Given the description of an element on the screen output the (x, y) to click on. 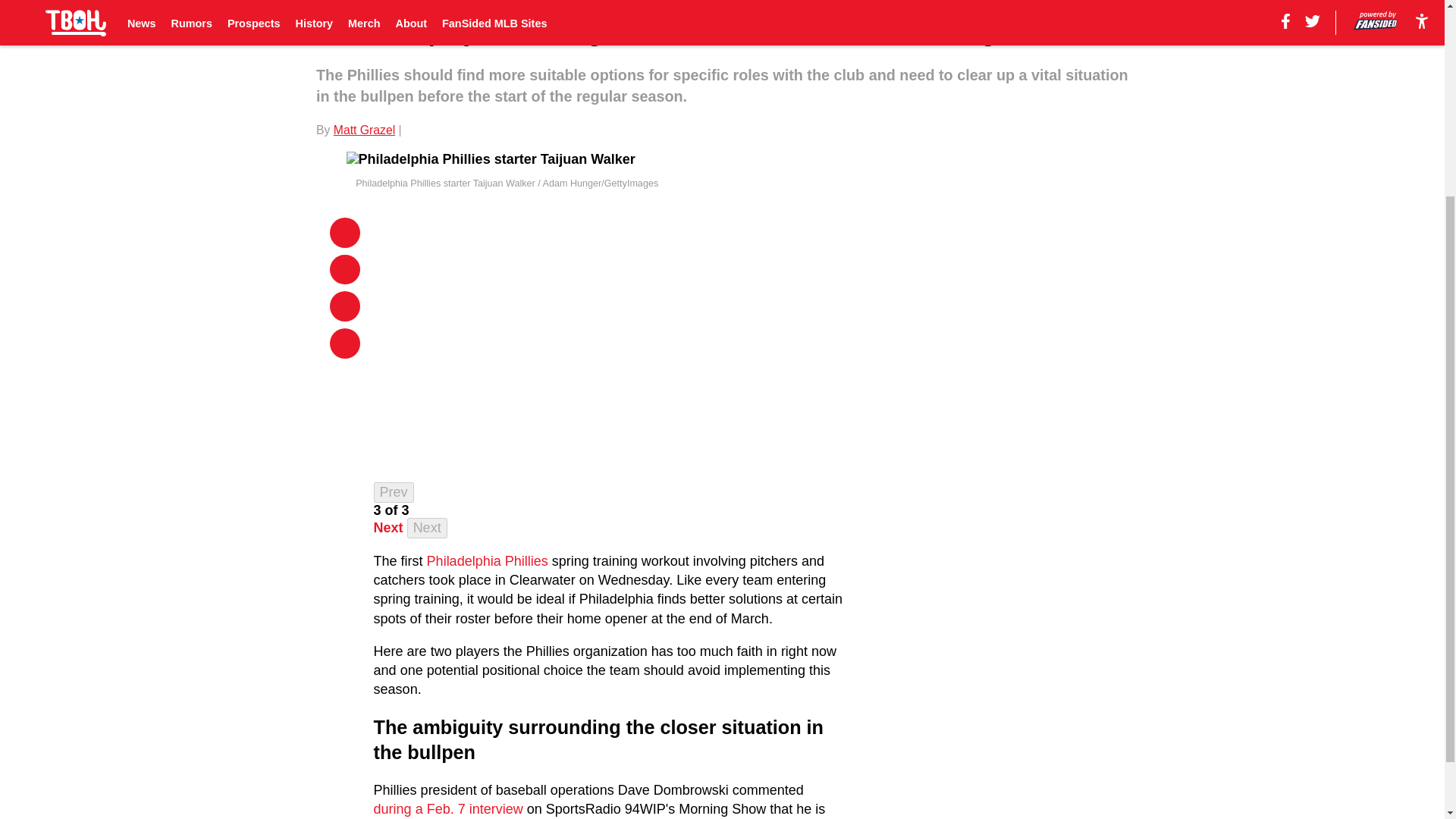
Next (388, 527)
during a Feb. 7 interview (448, 808)
Prev (393, 492)
Matt Grazel (363, 129)
Next (426, 527)
Philadelphia Phillies (487, 560)
